Given the description of an element on the screen output the (x, y) to click on. 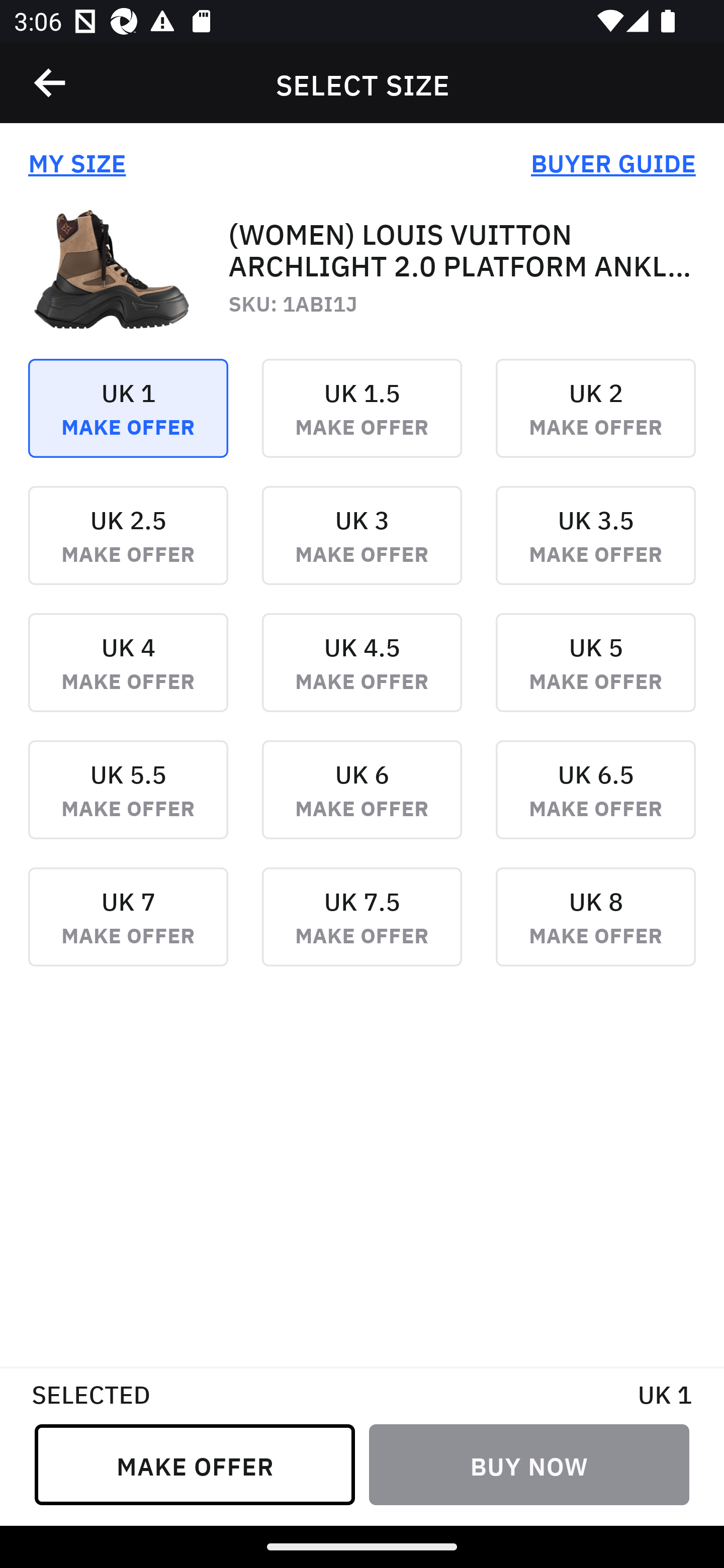
 (50, 83)
UK 1 MAKE OFFER (128, 422)
UK 1.5 MAKE OFFER (361, 422)
UK 2 MAKE OFFER (595, 422)
UK 2.5 MAKE OFFER (128, 549)
UK 3 MAKE OFFER (361, 549)
UK 3.5 MAKE OFFER (595, 549)
UK 4 MAKE OFFER (128, 676)
UK 4.5 MAKE OFFER (361, 676)
UK 5 MAKE OFFER (595, 676)
UK 5.5 MAKE OFFER (128, 803)
UK 6 MAKE OFFER (361, 803)
UK 6.5 MAKE OFFER (595, 803)
UK 7 MAKE OFFER (128, 930)
UK 7.5 MAKE OFFER (361, 930)
UK 8 MAKE OFFER (595, 930)
MAKE OFFER (194, 1464)
BUY NOW (529, 1464)
